Given the description of an element on the screen output the (x, y) to click on. 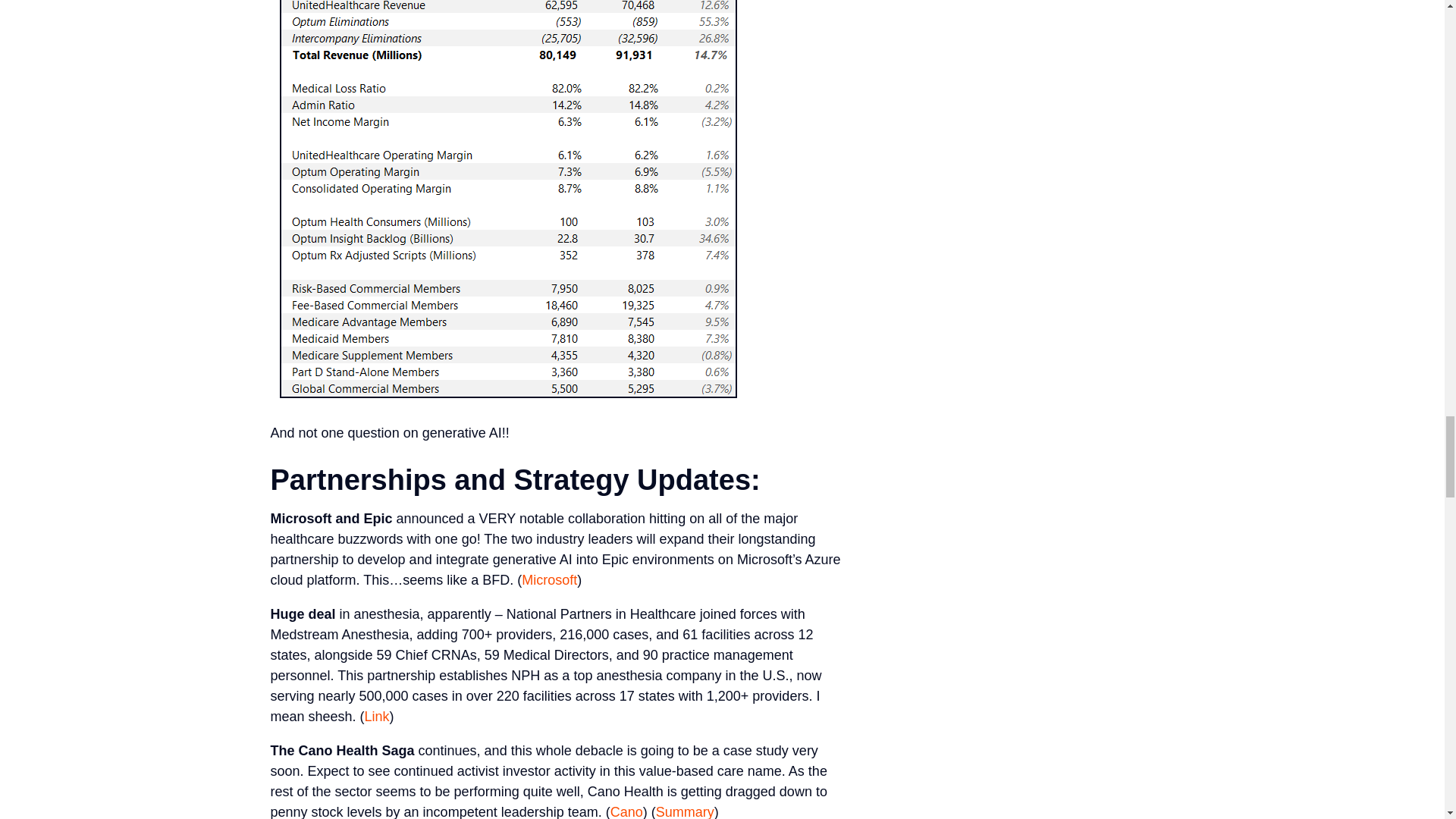
Microsoft (548, 580)
Link (377, 716)
Summary (685, 811)
Cano (626, 811)
